Given the description of an element on the screen output the (x, y) to click on. 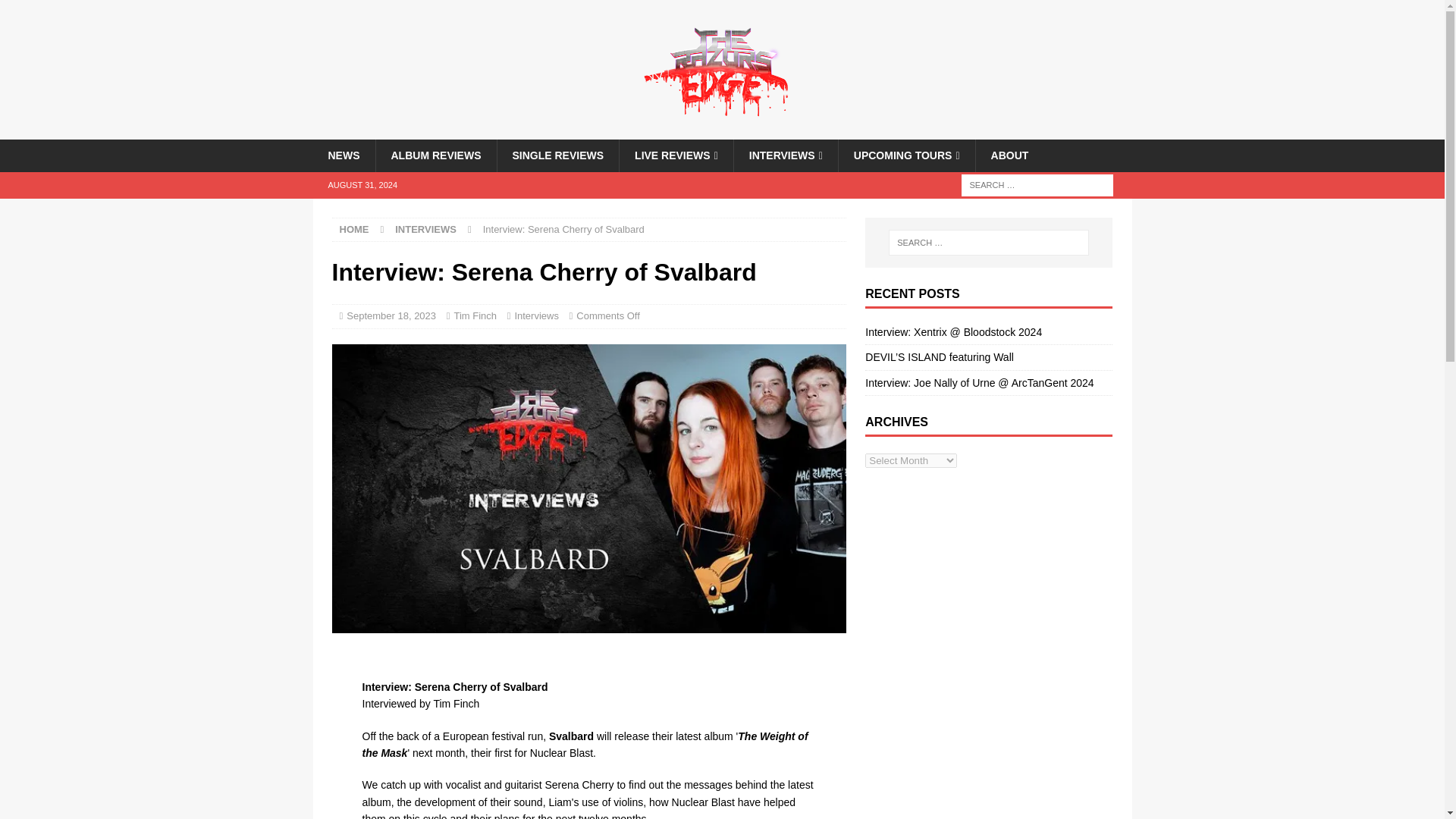
Search (56, 11)
HOME (354, 229)
ALBUM REVIEWS (435, 155)
SINGLE REVIEWS (557, 155)
Tim Finch (474, 315)
INTERVIEWS (425, 229)
LIVE REVIEWS (675, 155)
September 18, 2023 (390, 315)
UPCOMING TOURS (906, 155)
INTERVIEWS (785, 155)
